Given the description of an element on the screen output the (x, y) to click on. 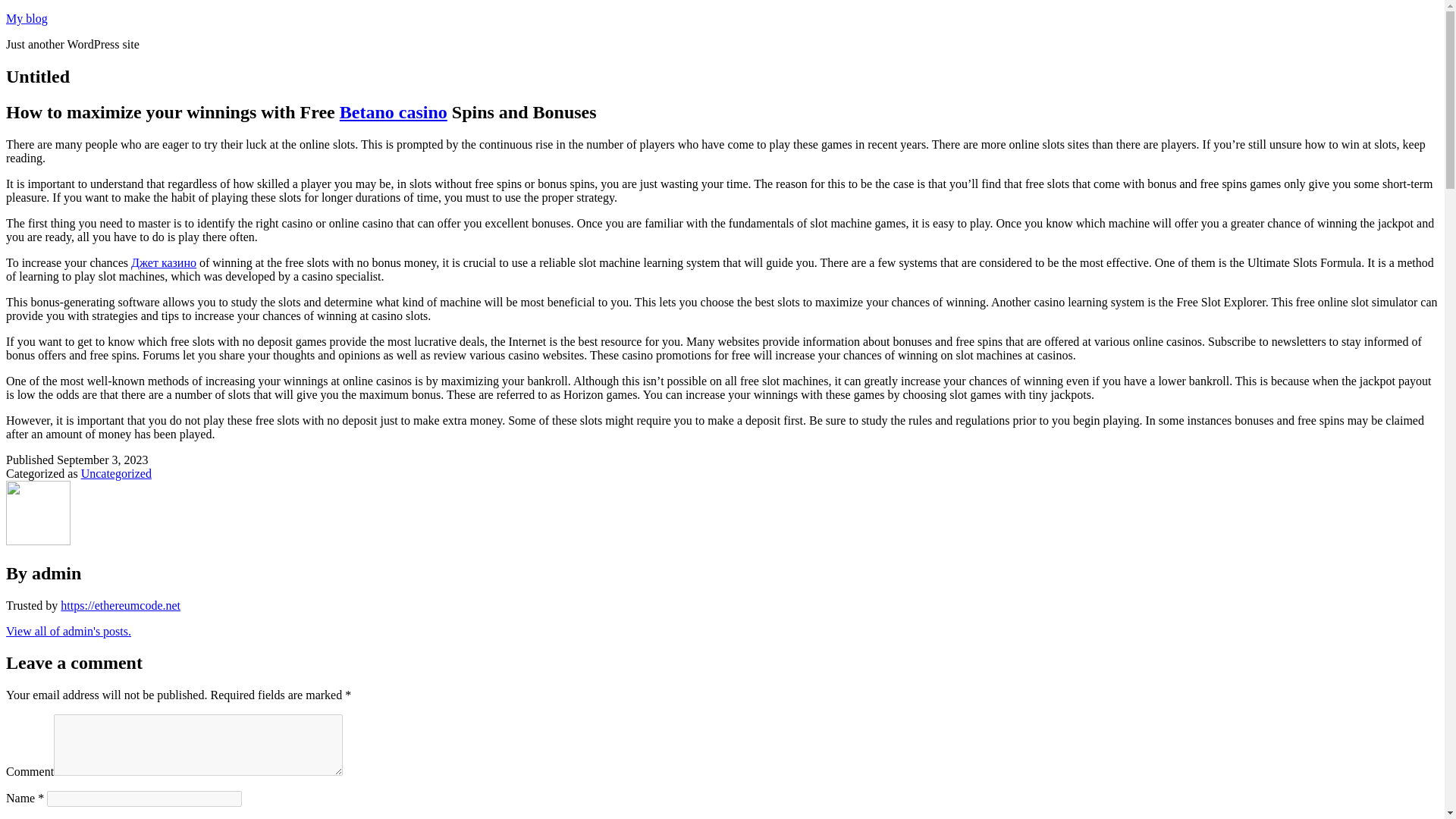
Uncategorized (116, 472)
My blog (26, 18)
Betano casino (392, 112)
View all of admin's posts. (68, 631)
